Given the description of an element on the screen output the (x, y) to click on. 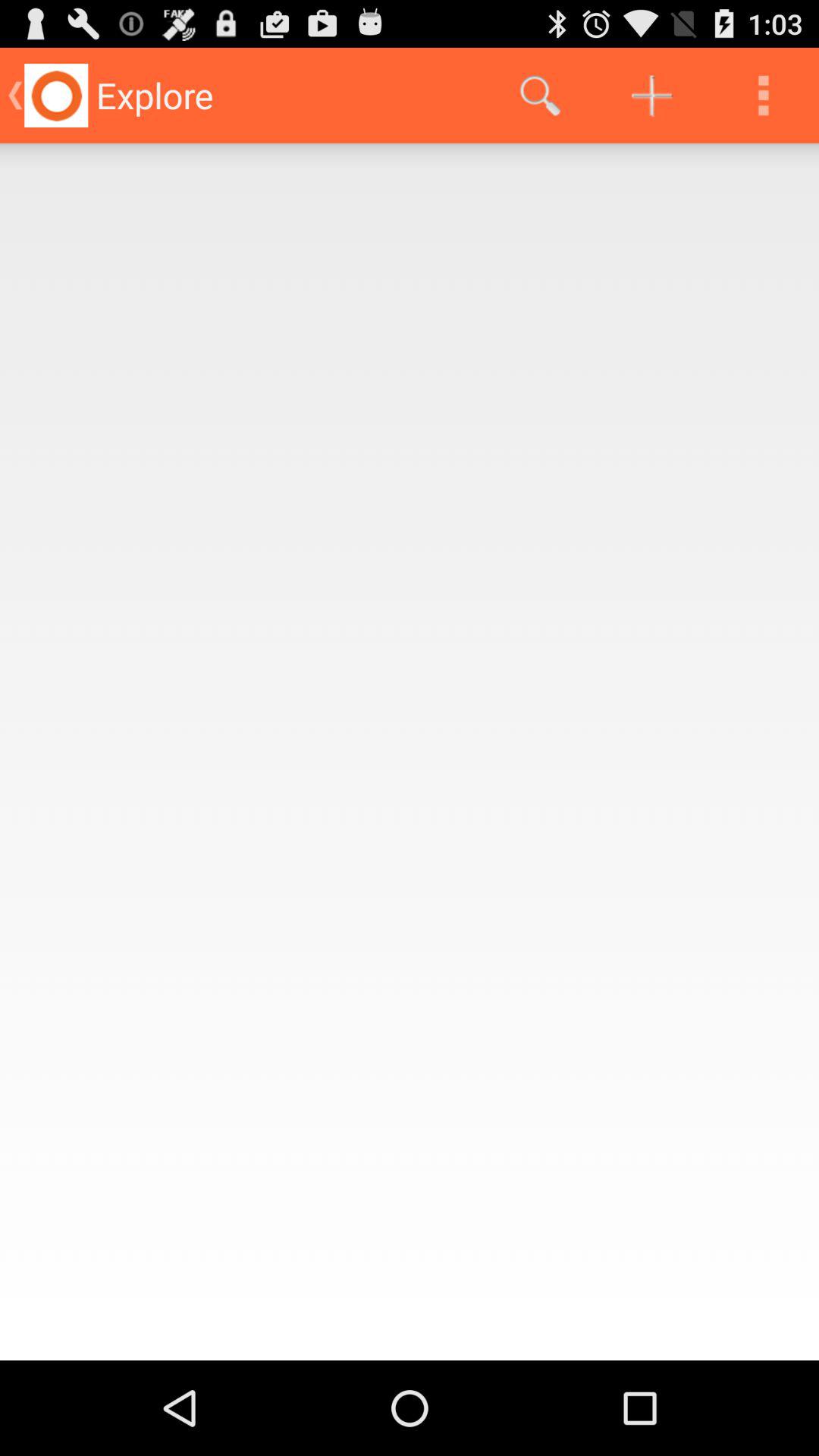
press the item next to explore item (540, 95)
